Given the description of an element on the screen output the (x, y) to click on. 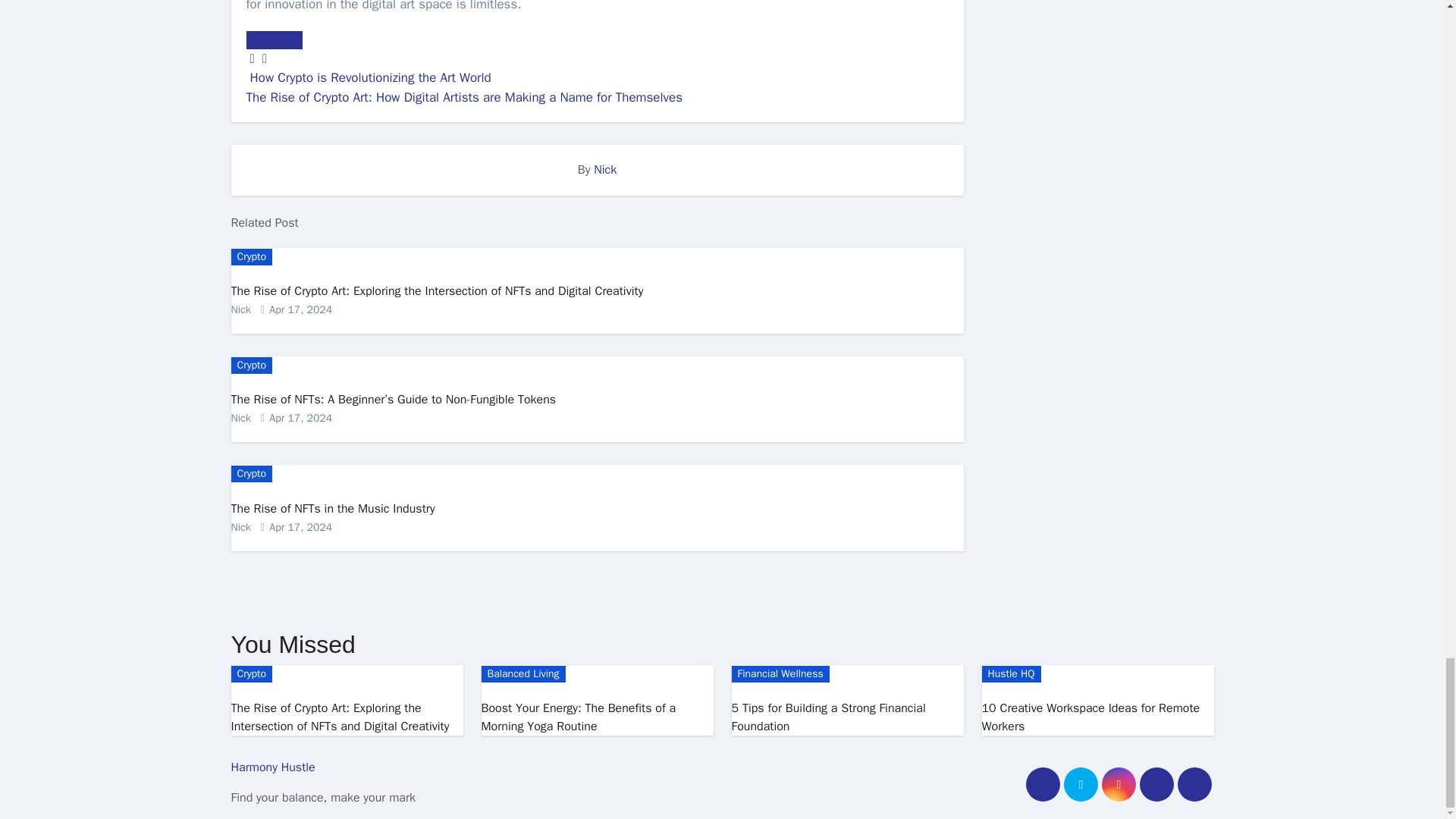
Nick (604, 169)
How Crypto is Revolutionizing the Art World (368, 77)
Permalink to: The Rise of NFTs in the Music Industry (331, 508)
